Given the description of an element on the screen output the (x, y) to click on. 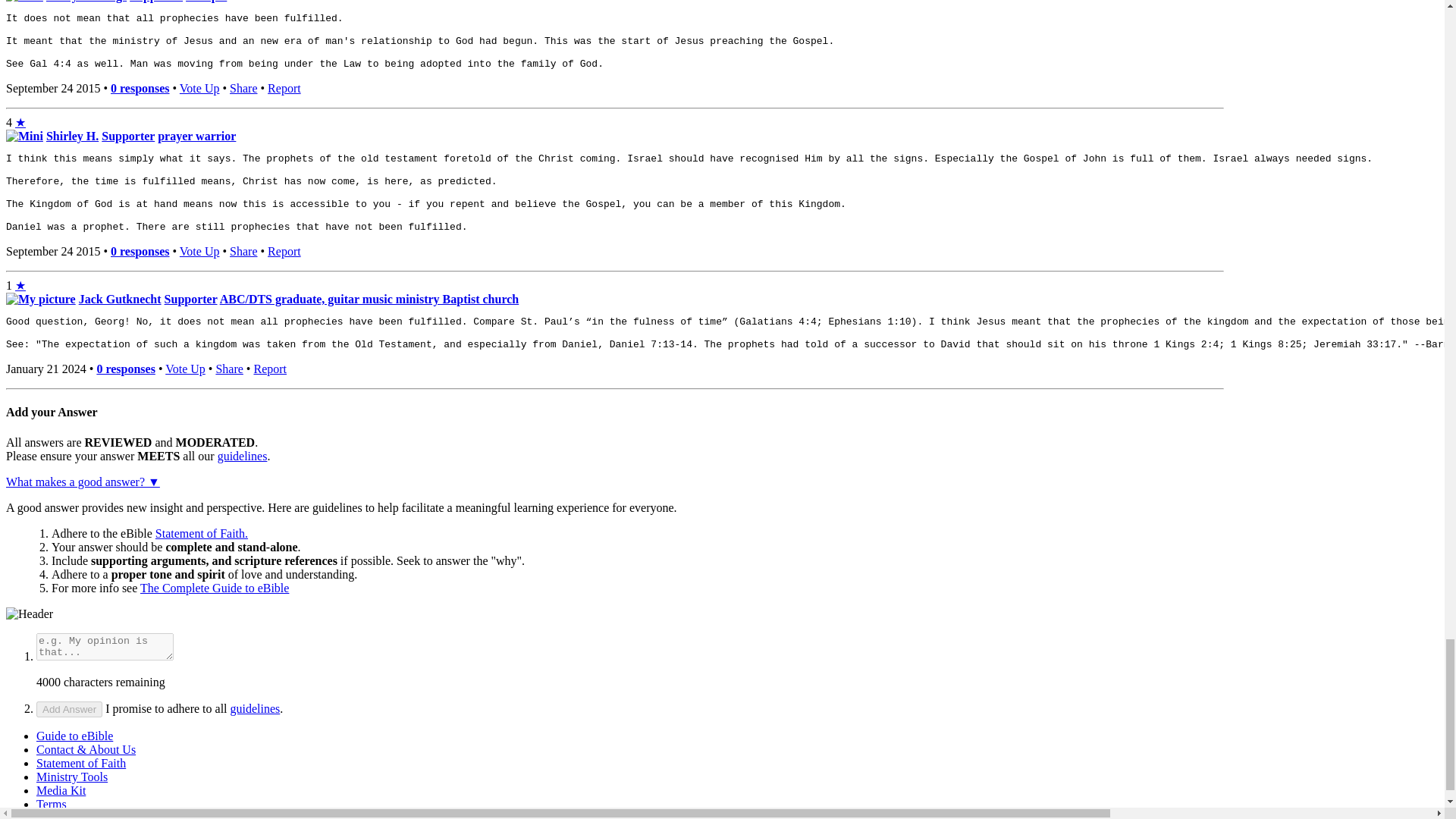
Add Answer (68, 709)
Vote Up (199, 88)
Vote Up (199, 250)
Vote Up (185, 368)
